Given the description of an element on the screen output the (x, y) to click on. 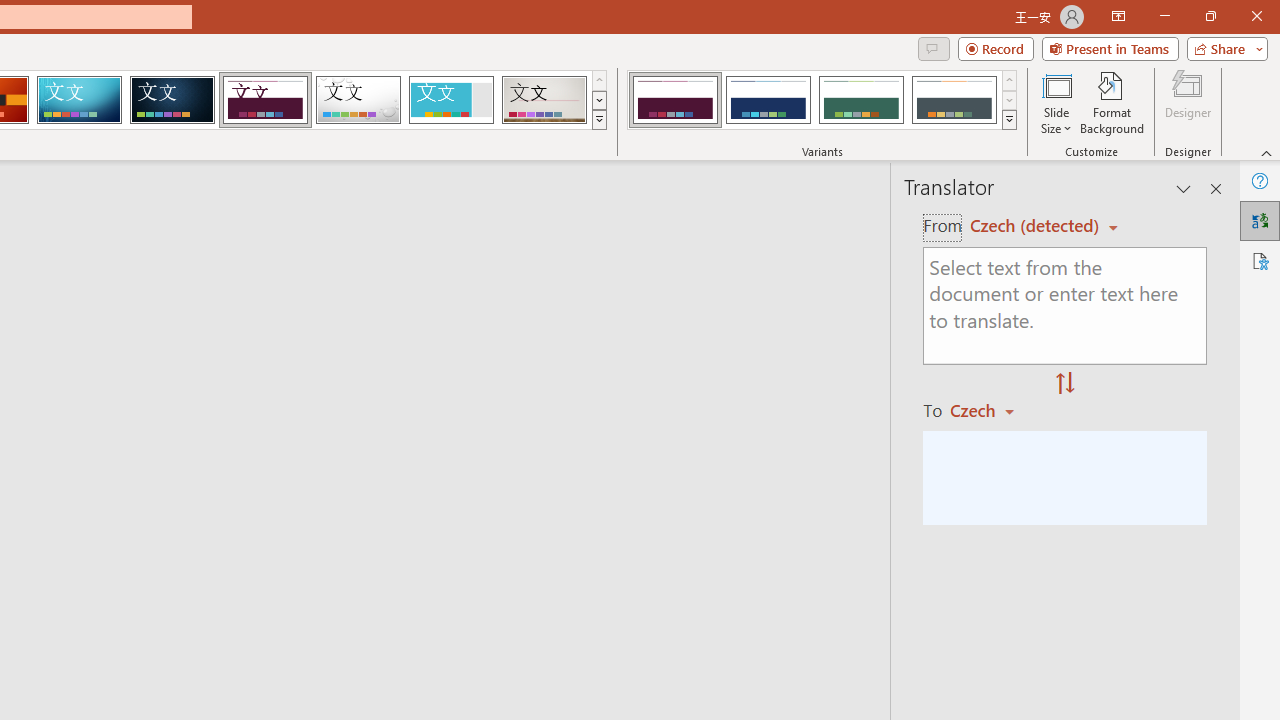
Czech (991, 409)
Slide Size (1056, 102)
Swap "from" and "to" languages. (1065, 383)
Dividend Variant 3 (861, 100)
AutomationID: ThemeVariantsGallery (822, 99)
